Given the description of an element on the screen output the (x, y) to click on. 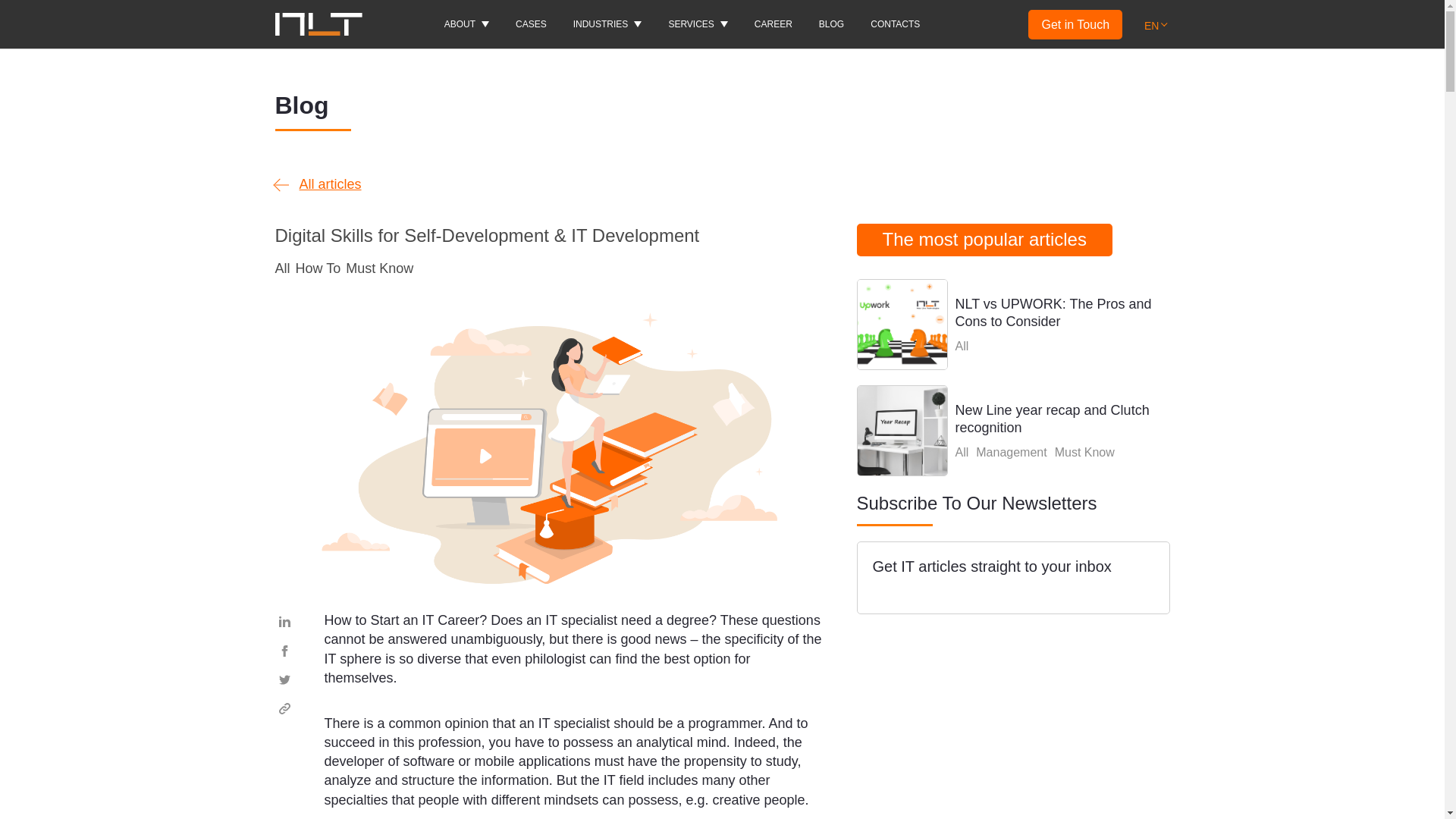
ABOUT (466, 24)
Must Know (379, 268)
Linkedin (284, 620)
SERVICES (697, 24)
The most popular articles (984, 239)
INDUSTRIES (607, 24)
How To (317, 268)
Twitter (284, 679)
All articles (318, 184)
New Line year recap and Clutch recognition (1013, 429)
